Given the description of an element on the screen output the (x, y) to click on. 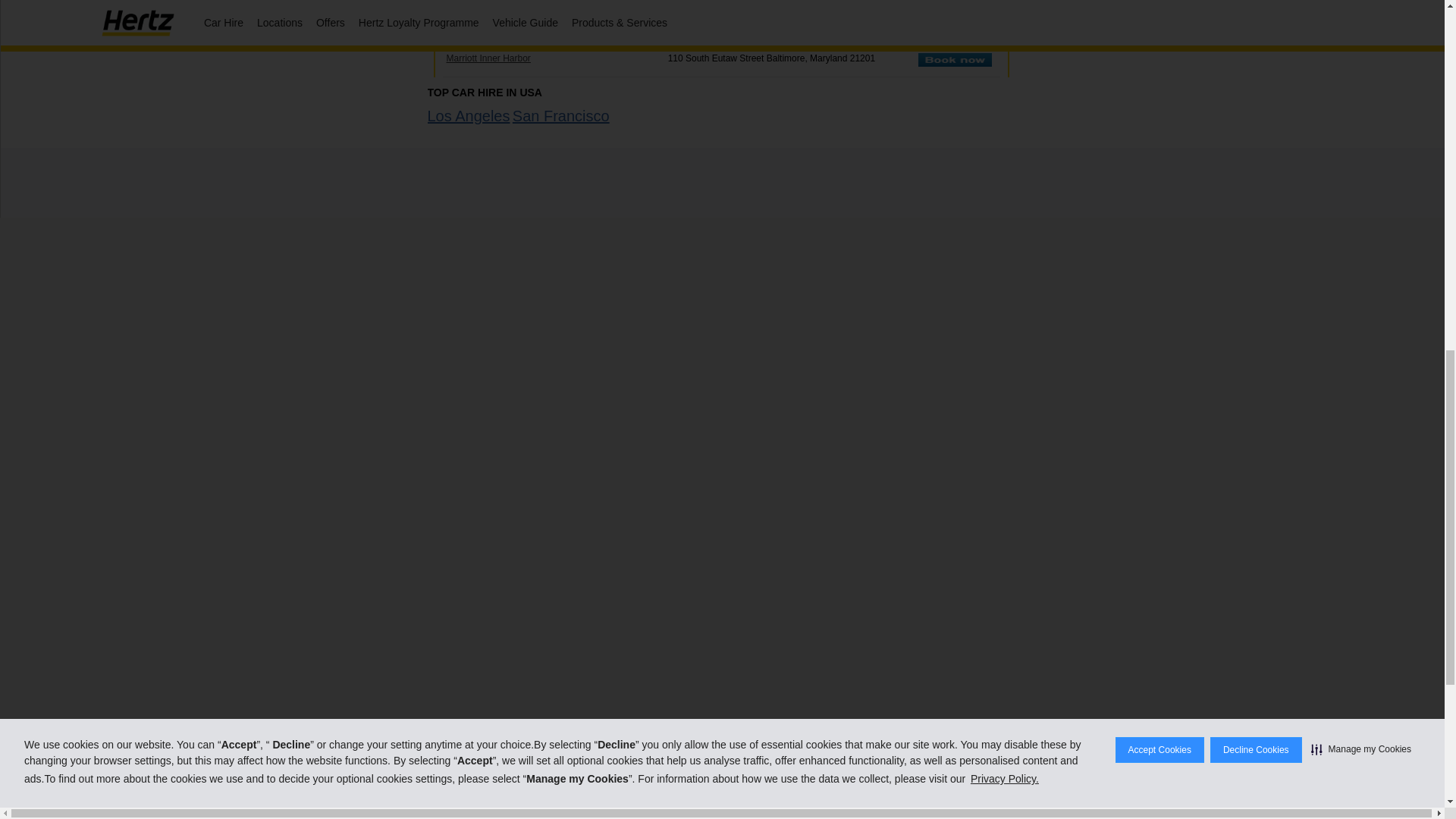
Marriott Inner Harbor (954, 63)
Amtrak BWI AP (954, 2)
San Francisco (561, 115)
Baltimore Northwest HLE (954, 31)
Los Angeles (469, 115)
